Given the description of an element on the screen output the (x, y) to click on. 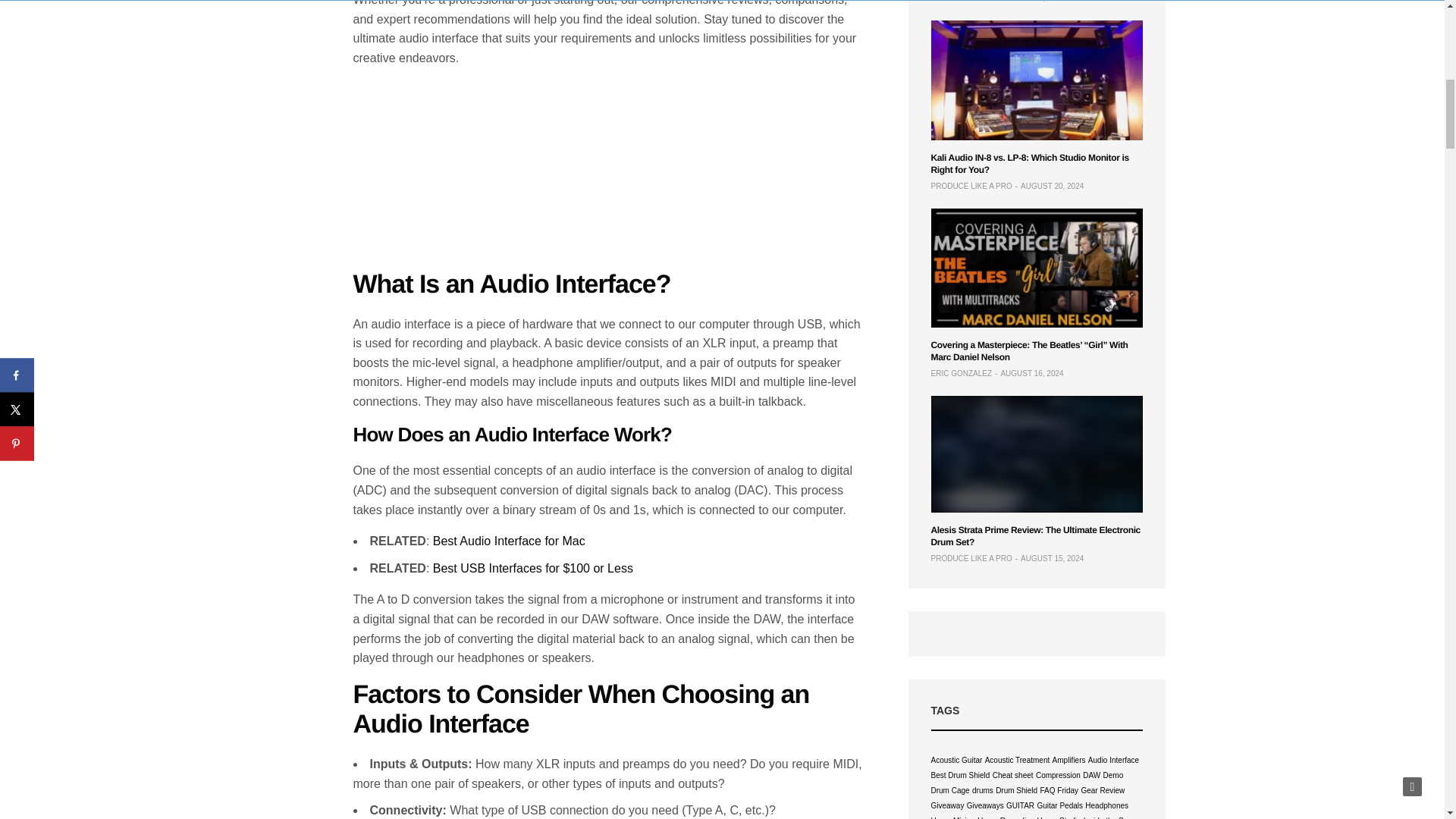
Best Audio Interface for Mac (508, 540)
Posts by Warren Huart (961, 2)
3rd party ad content (608, 175)
